Given the description of an element on the screen output the (x, y) to click on. 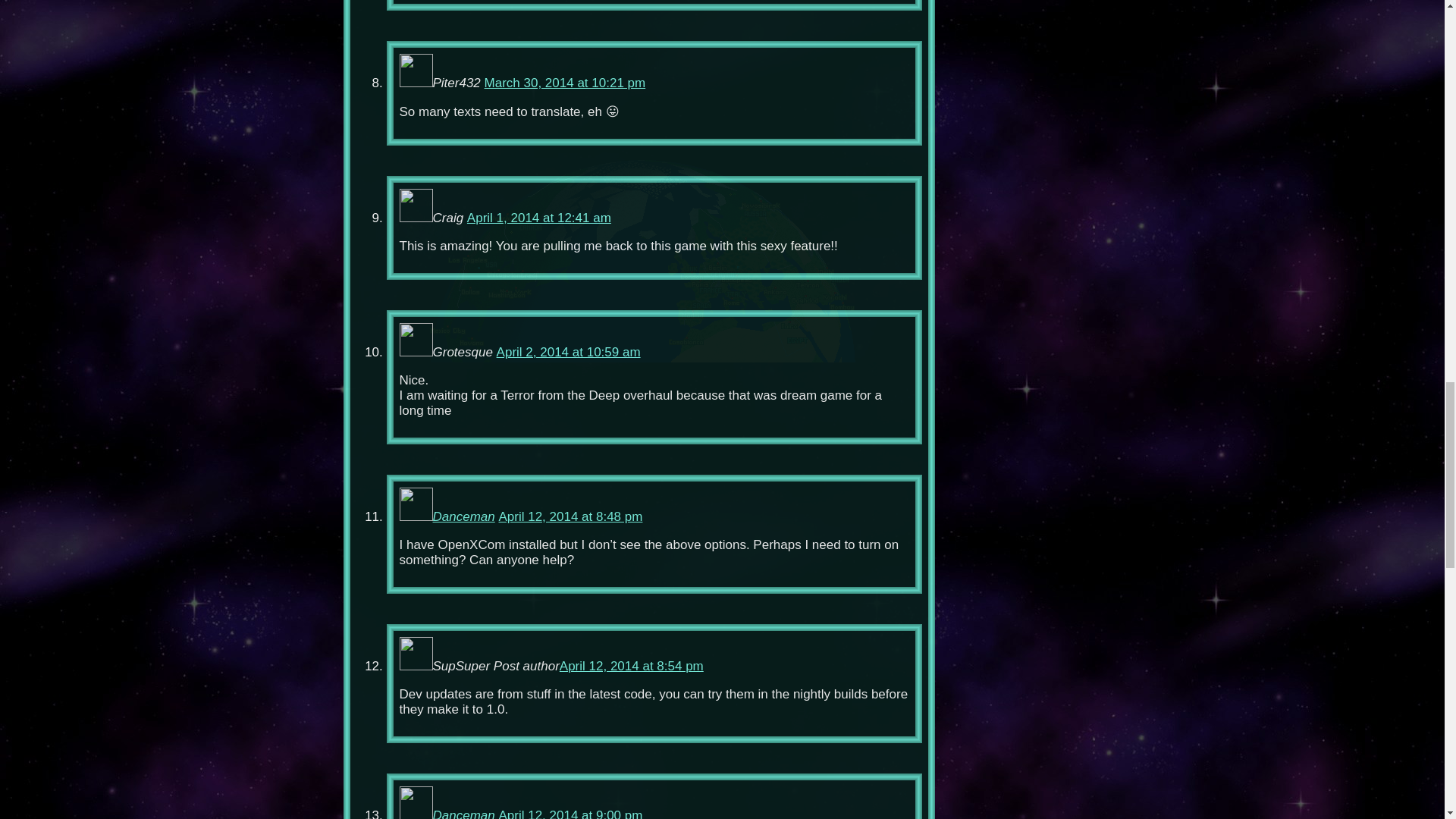
Danceman (463, 516)
Danceman (463, 813)
April 1, 2014 at 12:41 am (539, 217)
April 12, 2014 at 8:48 pm (569, 516)
April 12, 2014 at 9:00 pm (569, 813)
March 30, 2014 at 10:21 pm (565, 83)
April 12, 2014 at 8:54 pm (631, 666)
April 2, 2014 at 10:59 am (568, 351)
